Given the description of an element on the screen output the (x, y) to click on. 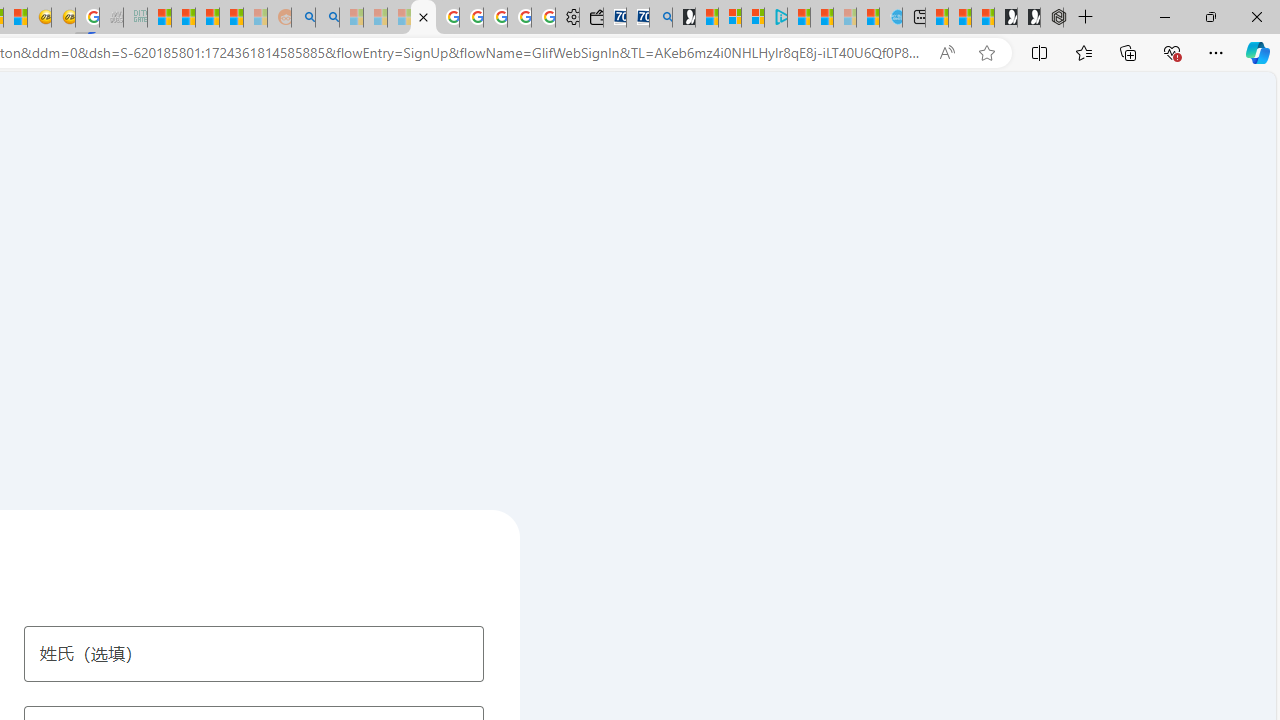
Bing Real Estate - Home sales and rental listings (660, 17)
Utah sues federal government - Search (327, 17)
Home | Sky Blue Bikes - Sky Blue Bikes (890, 17)
Cheap Car Rentals - Save70.com (637, 17)
